Given the description of an element on the screen output the (x, y) to click on. 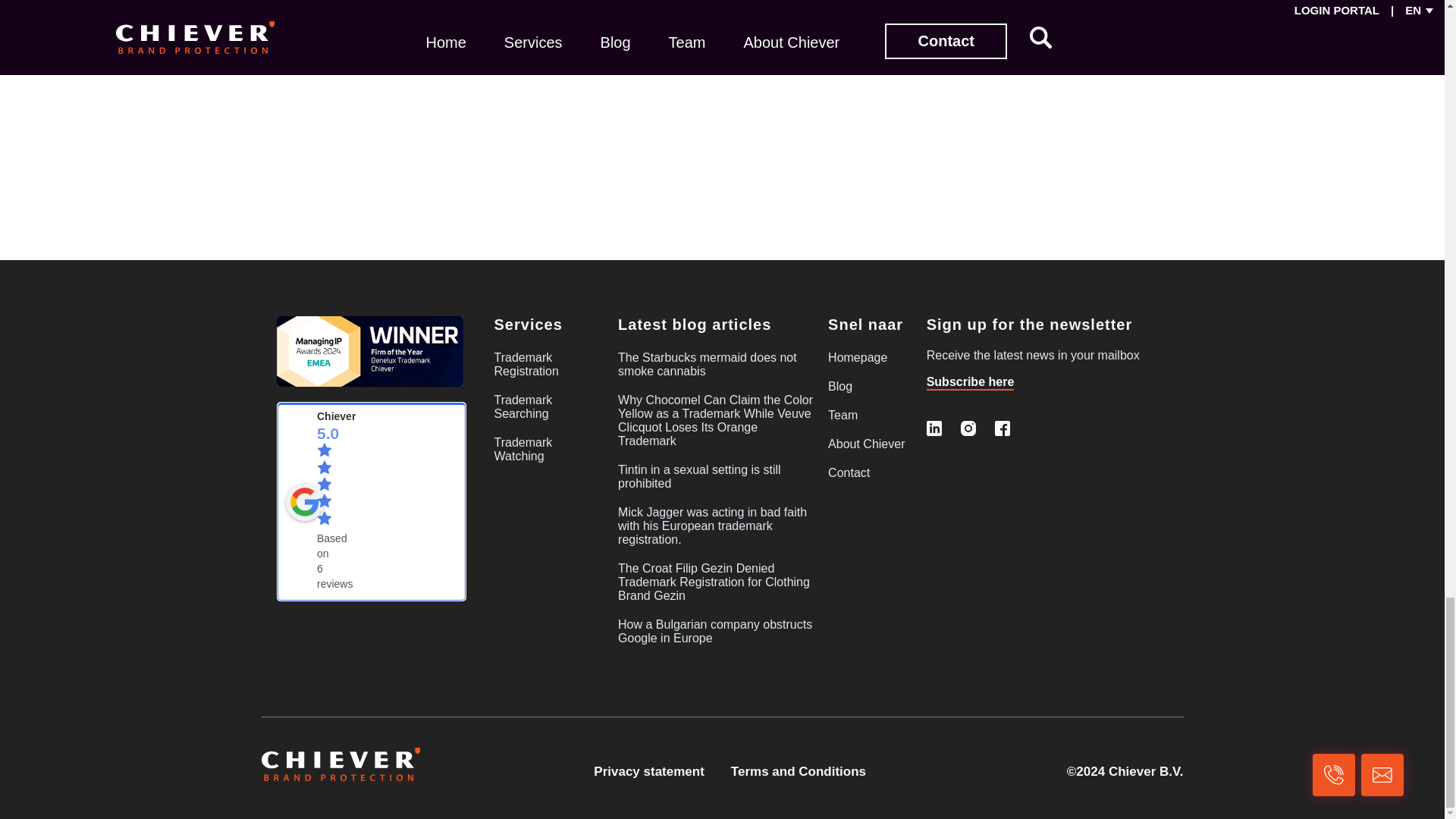
The Starbucks mermaid does not smoke cannabis (706, 364)
Trademark Registration (527, 364)
Trademark Watching (524, 448)
Trademark Searching (524, 406)
Chiever (304, 501)
Chiever (336, 416)
Tintin in a sexual setting is still prohibited (698, 476)
